Given the description of an element on the screen output the (x, y) to click on. 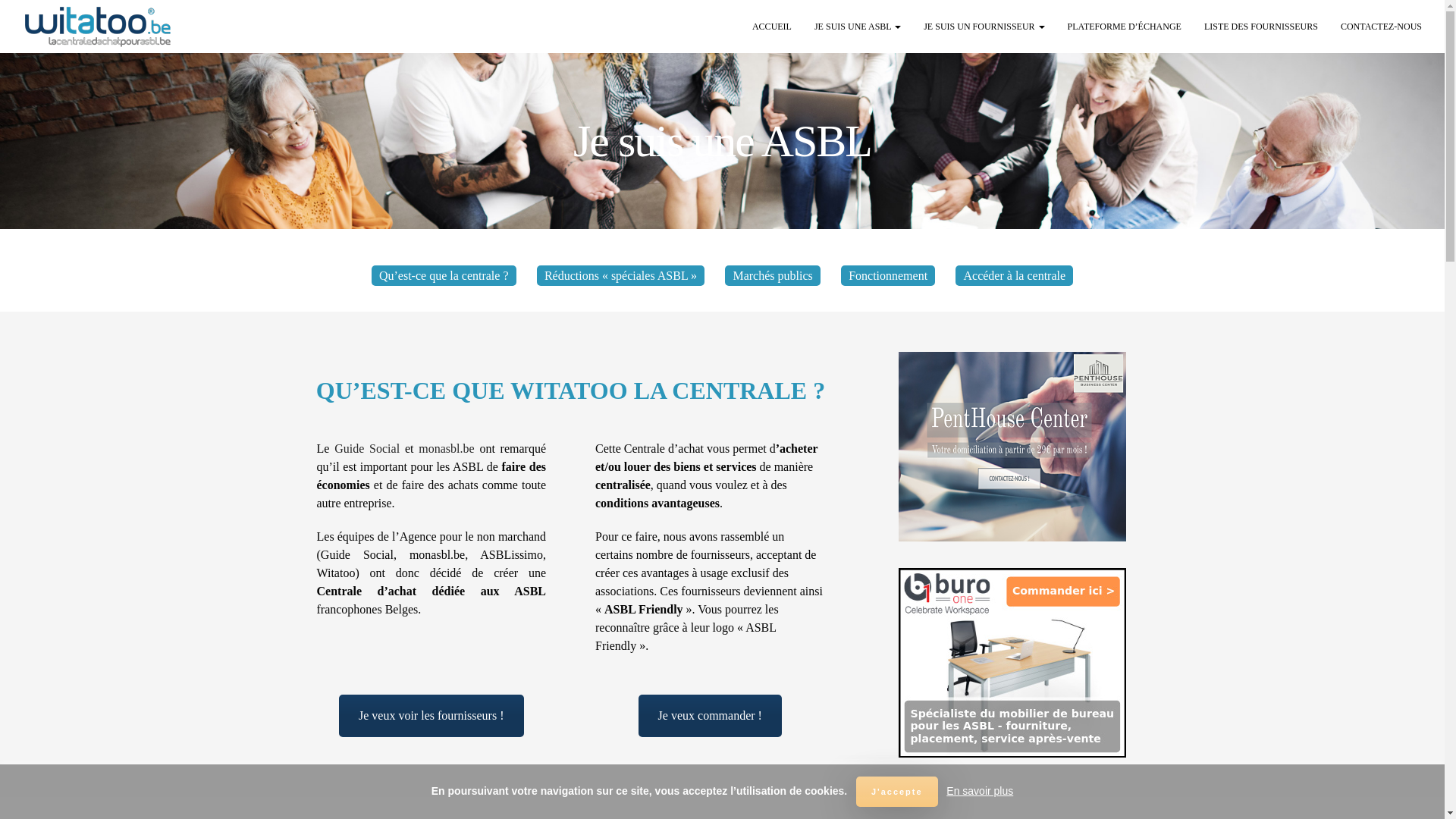
JE SUIS UN FOURNISSEUR Element type: text (983, 26)
Guide Social Element type: text (366, 448)
monasbl.be Element type: text (445, 448)
LISTE DES FOURNISSEURS Element type: text (1260, 26)
JE SUIS UNE ASBL Element type: text (857, 26)
Fonctionnement Element type: text (887, 275)
Je veux voir les fournisseurs ! Element type: text (431, 715)
CONTACTEZ-NOUS Element type: text (1381, 26)
En savoir plus Element type: text (979, 790)
ACCUEIL Element type: text (771, 26)
J'accepte Element type: text (897, 791)
Je veux commander ! Element type: text (709, 715)
